Given the description of an element on the screen output the (x, y) to click on. 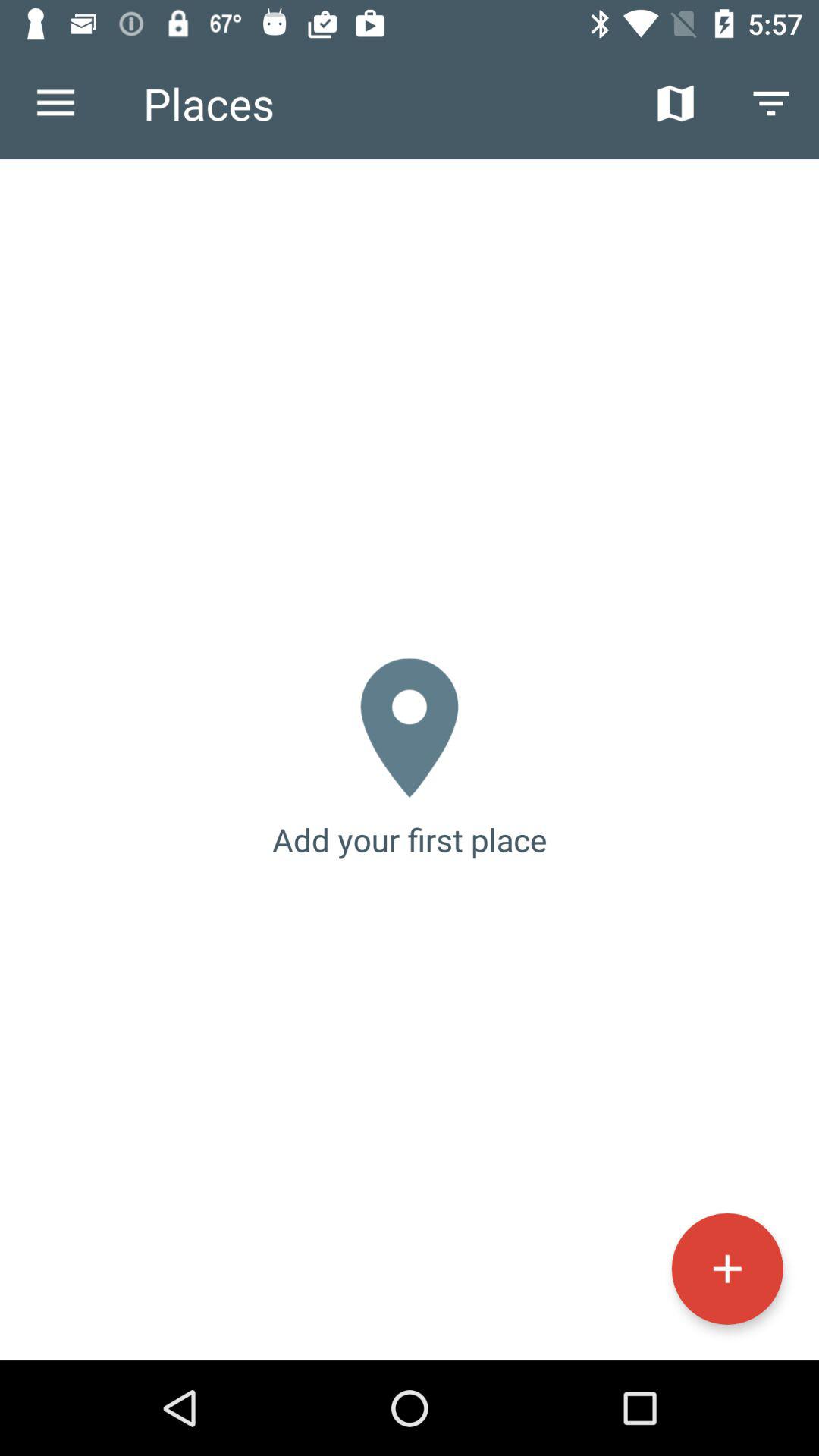
turn on item below the add your first icon (727, 1268)
